Given the description of an element on the screen output the (x, y) to click on. 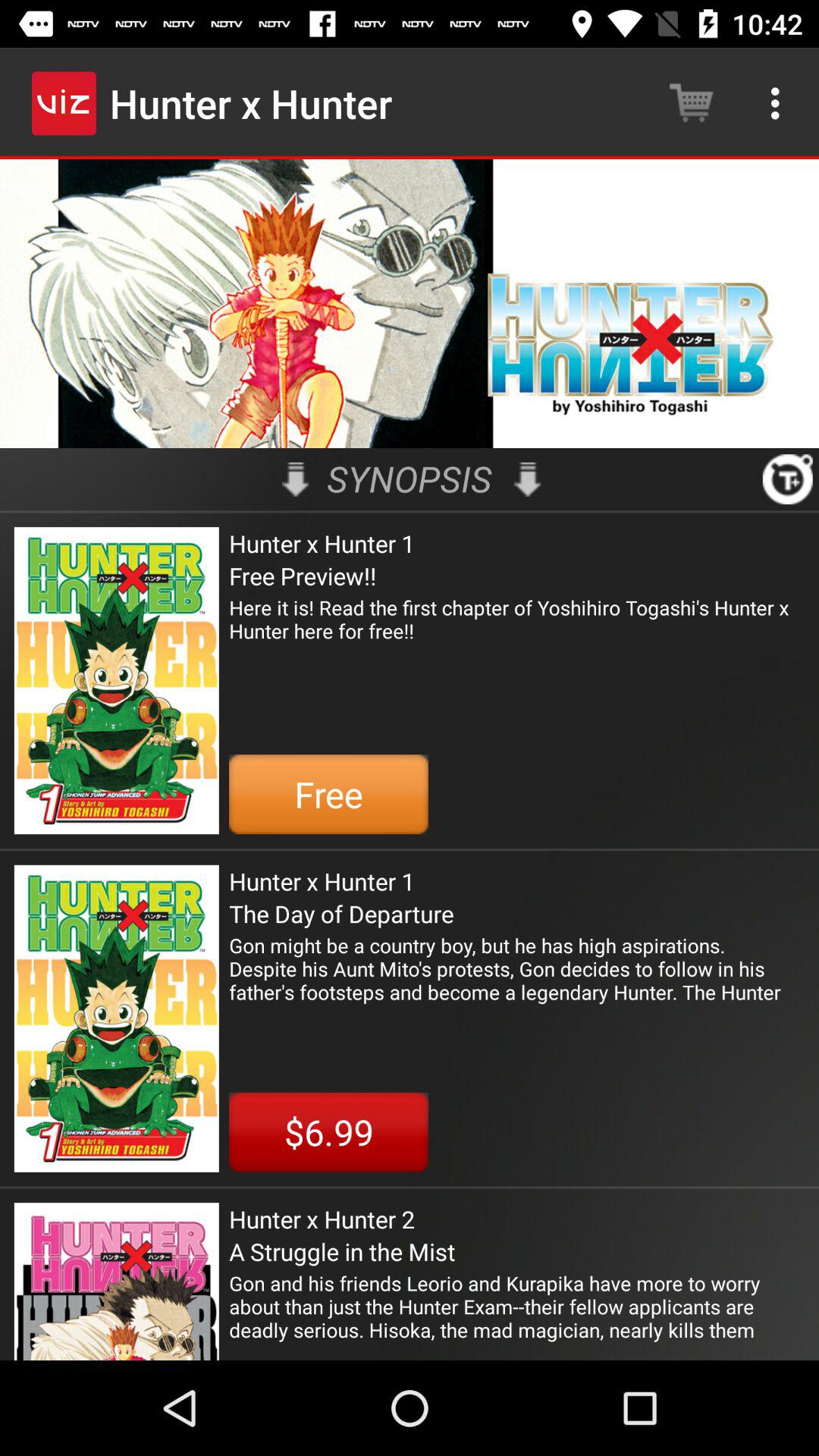
open the item next to the hunter x hunter (691, 103)
